Given the description of an element on the screen output the (x, y) to click on. 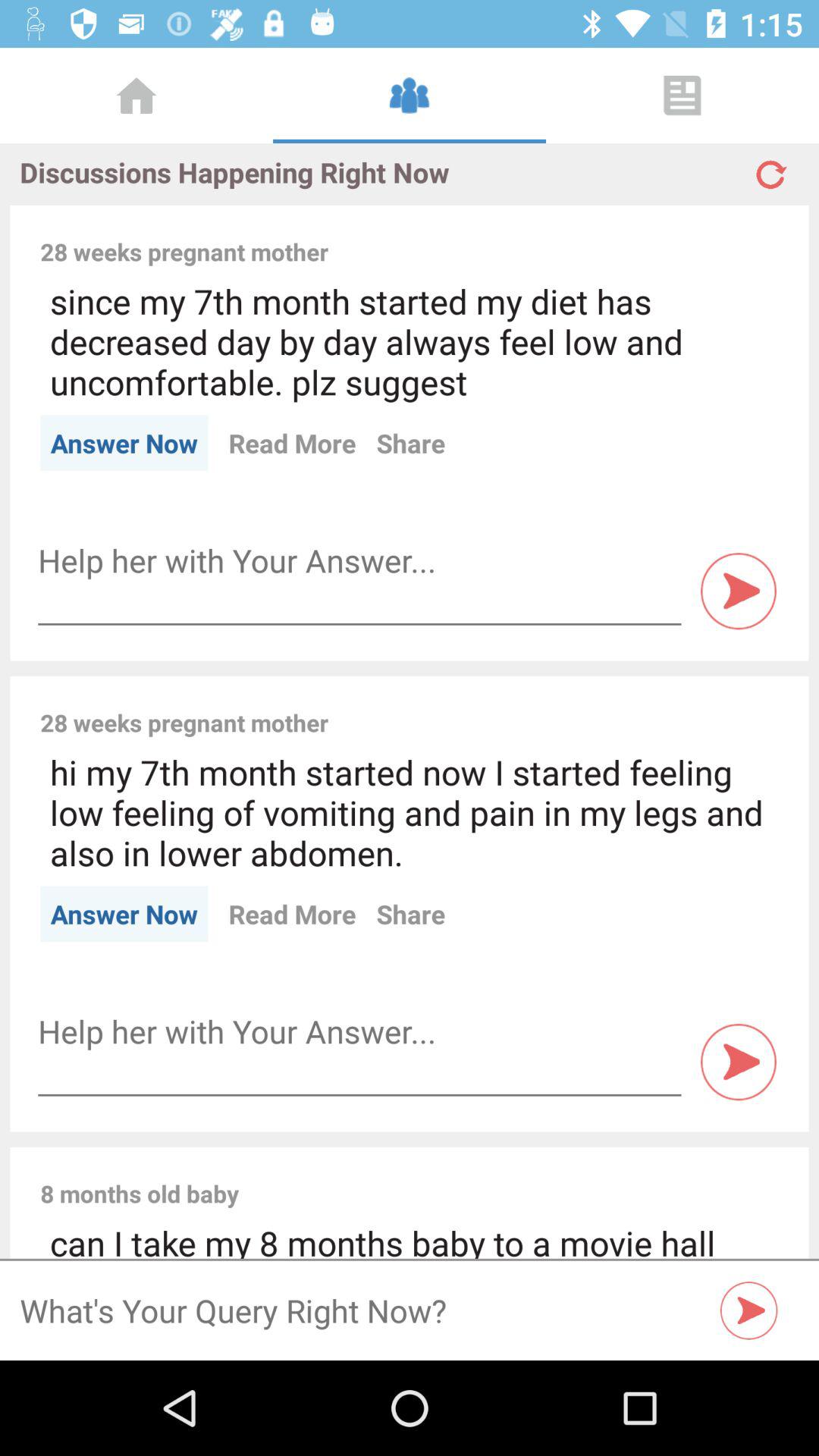
choose the item next to 28 weeks pregnant (563, 235)
